Given the description of an element on the screen output the (x, y) to click on. 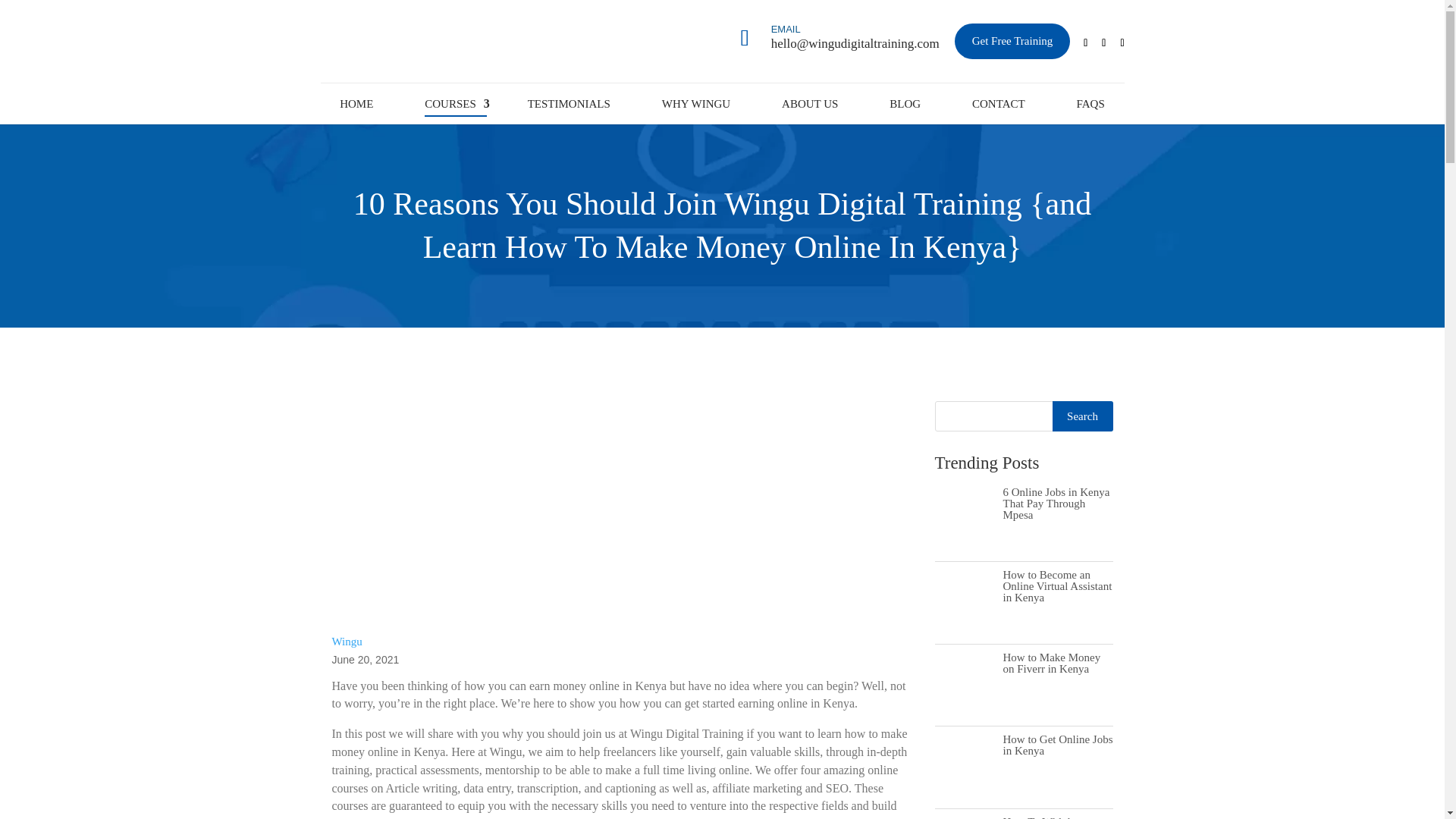
FAQS (1091, 103)
How to Become an Online Virtual Assistant in Kenya (1057, 585)
Wingu (346, 641)
COURSES (450, 103)
Get Free Training (1012, 40)
Posts by Wingu (346, 641)
ABOUT US (809, 103)
Search (1082, 416)
HOME (355, 103)
6 Online Jobs in Kenya That Pay Through Mpesa (1056, 503)
